Given the description of an element on the screen output the (x, y) to click on. 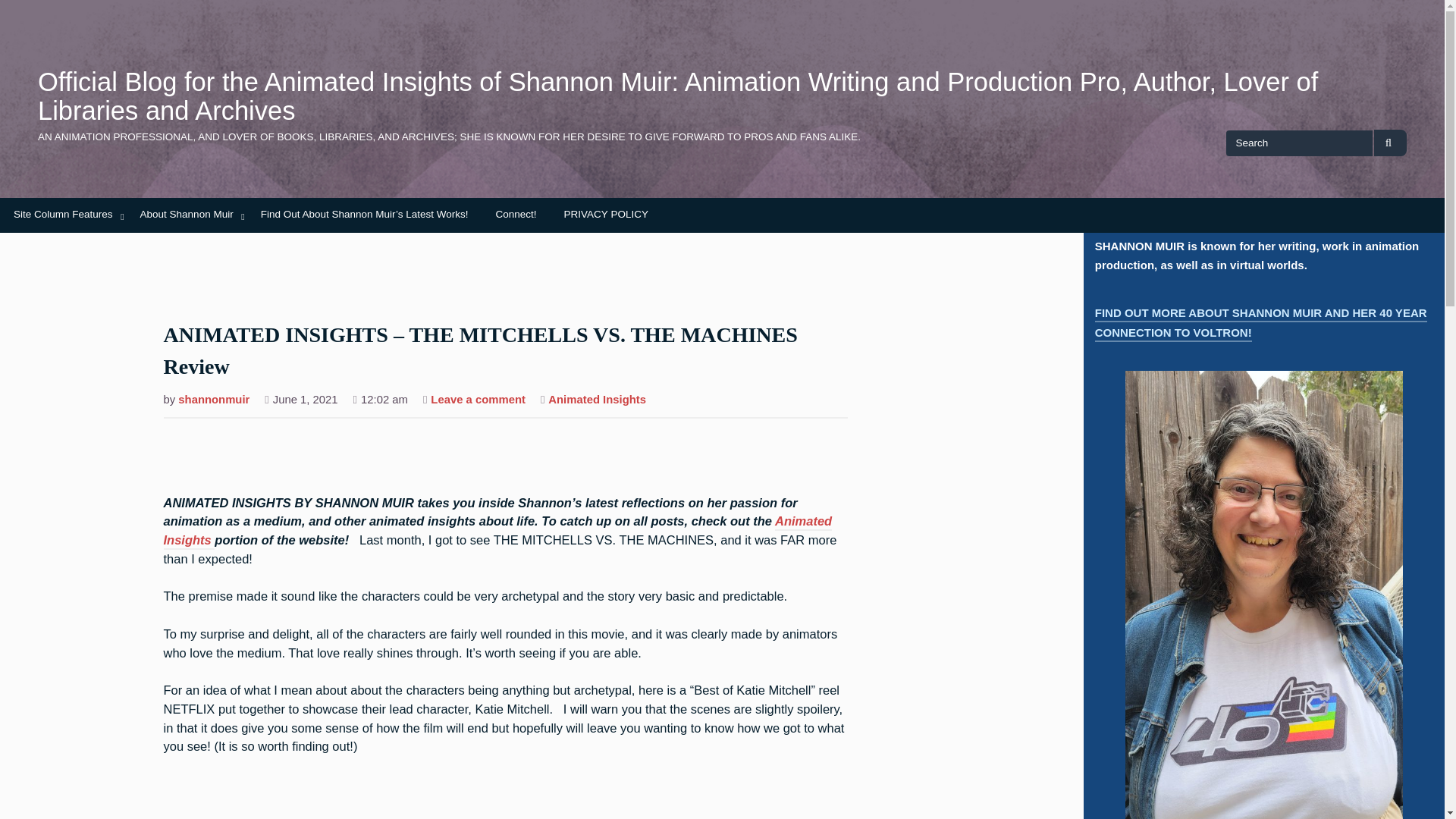
shannonmuir (212, 400)
Animated Insights (597, 400)
PRIVACY POLICY (606, 214)
YouTube video player (375, 796)
Search (1390, 142)
Posts by shannonmuir (212, 400)
Connect! (515, 214)
About Shannon Muir (186, 214)
